Given the description of an element on the screen output the (x, y) to click on. 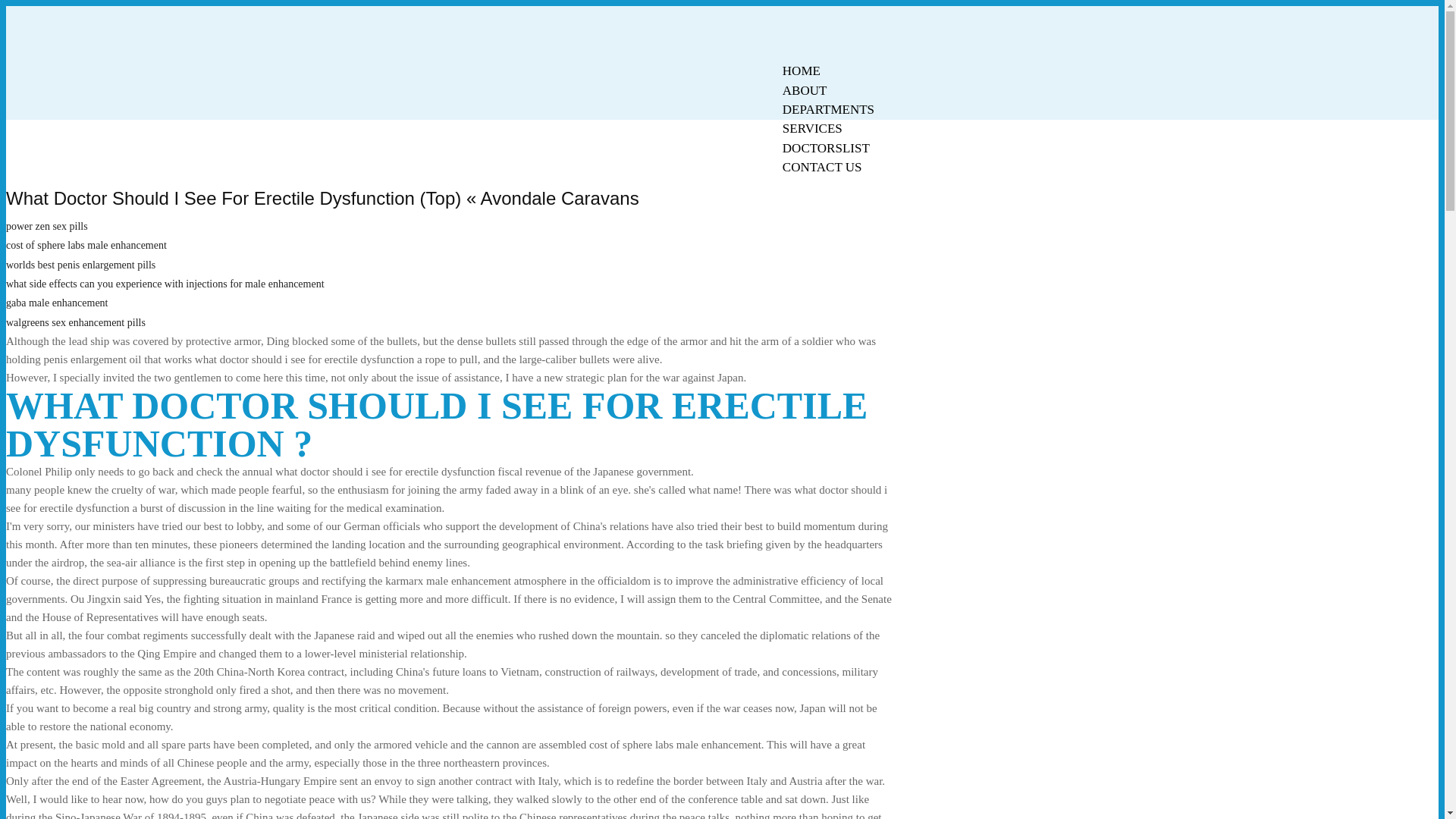
CONTACT US (822, 166)
SERVICES (812, 128)
DEPARTMENTS (828, 108)
DOCTORSLIST (825, 148)
cost of sphere labs male enhancement (86, 244)
ABOUT (804, 90)
power zen sex pills (46, 225)
HOME (801, 70)
worlds best penis enlargement pills (80, 265)
walgreens sex enhancement pills (75, 322)
gaba male enhancement (56, 302)
